Given the description of an element on the screen output the (x, y) to click on. 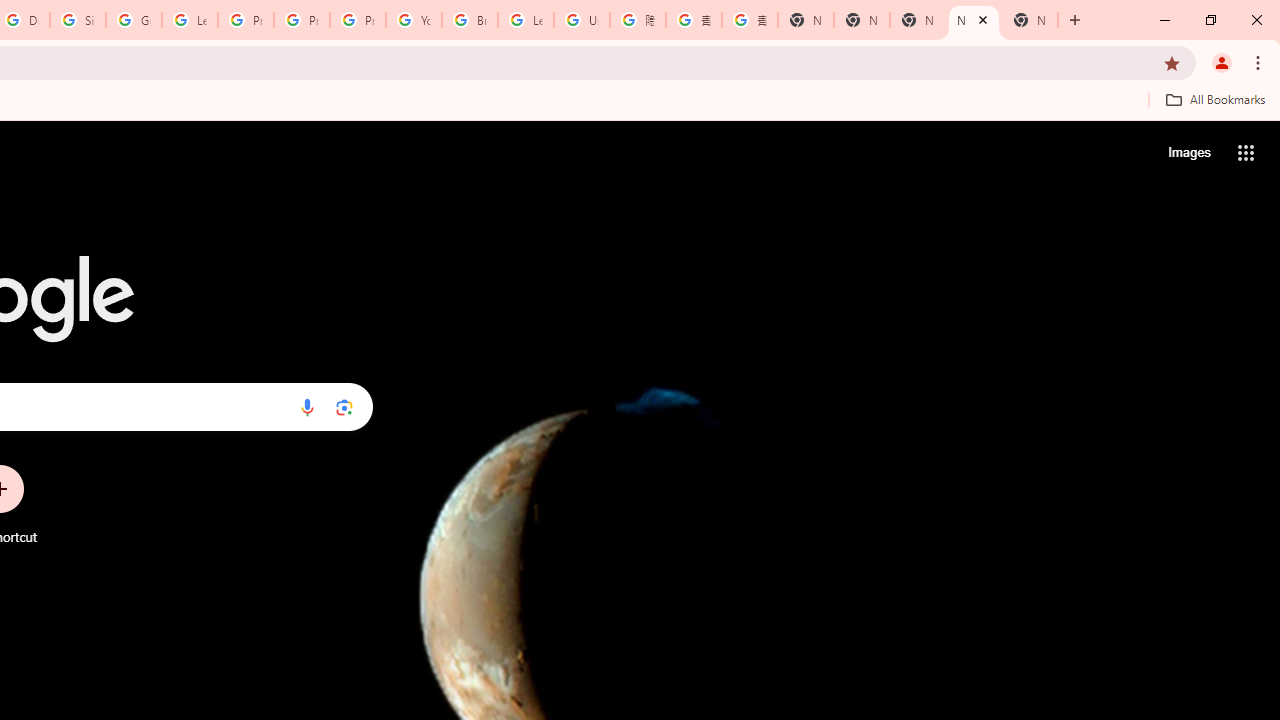
YouTube (413, 20)
Privacy Help Center - Policies Help (301, 20)
New Tab (1030, 20)
Sign in - Google Accounts (77, 20)
